Given the description of an element on the screen output the (x, y) to click on. 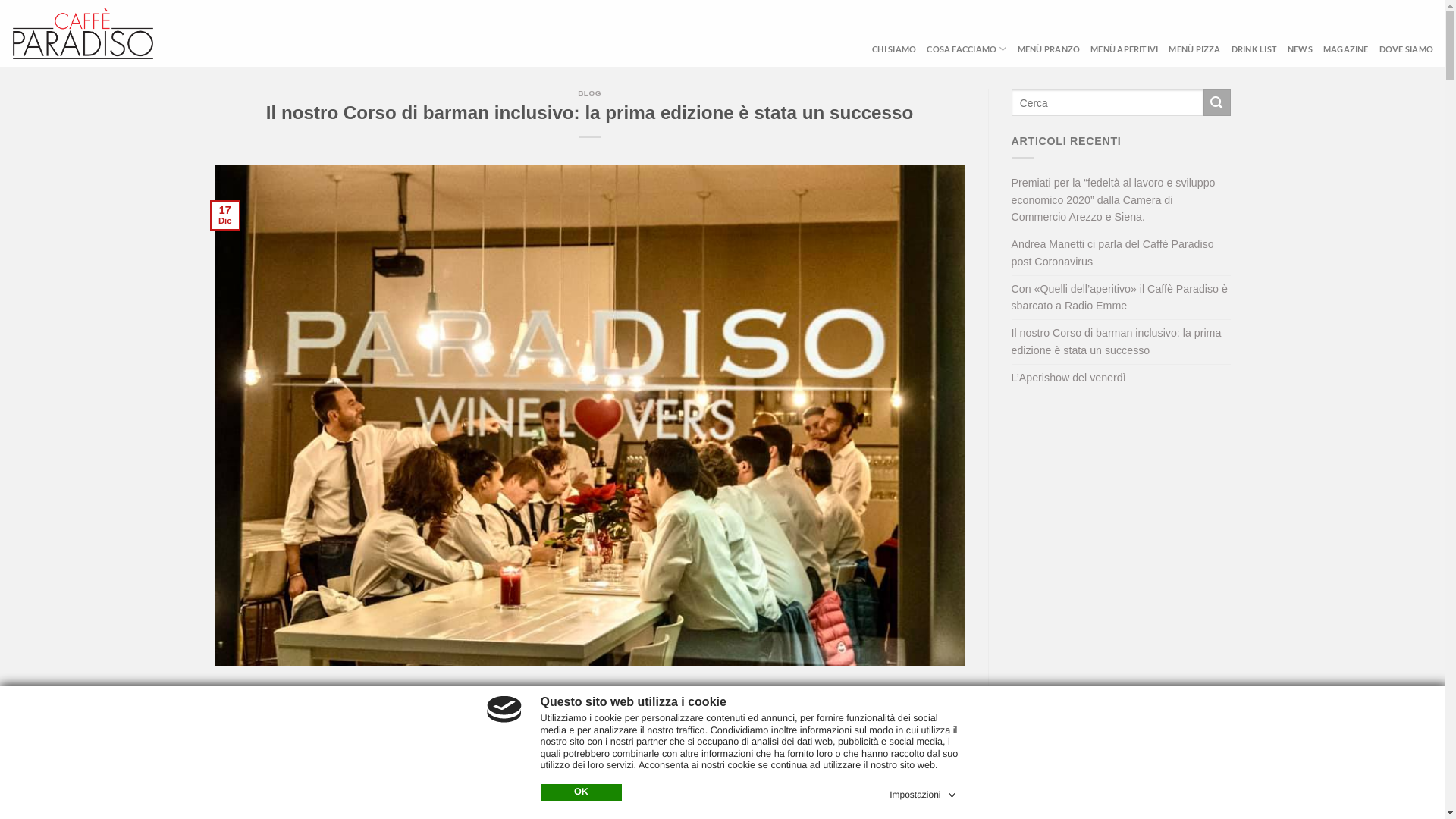
Impostazioni Element type: text (923, 792)
COSA FACCIAMO Element type: text (966, 48)
DOVE SIAMO Element type: text (1406, 48)
NEWS Element type: text (1299, 48)
BLOG Element type: text (589, 92)
MAGAZINE Element type: text (1345, 48)
Skip to content Element type: text (0, 0)
CHI SIAMO Element type: text (894, 48)
OK Element type: text (581, 792)
DRINK LIST Element type: text (1254, 48)
